Given the description of an element on the screen output the (x, y) to click on. 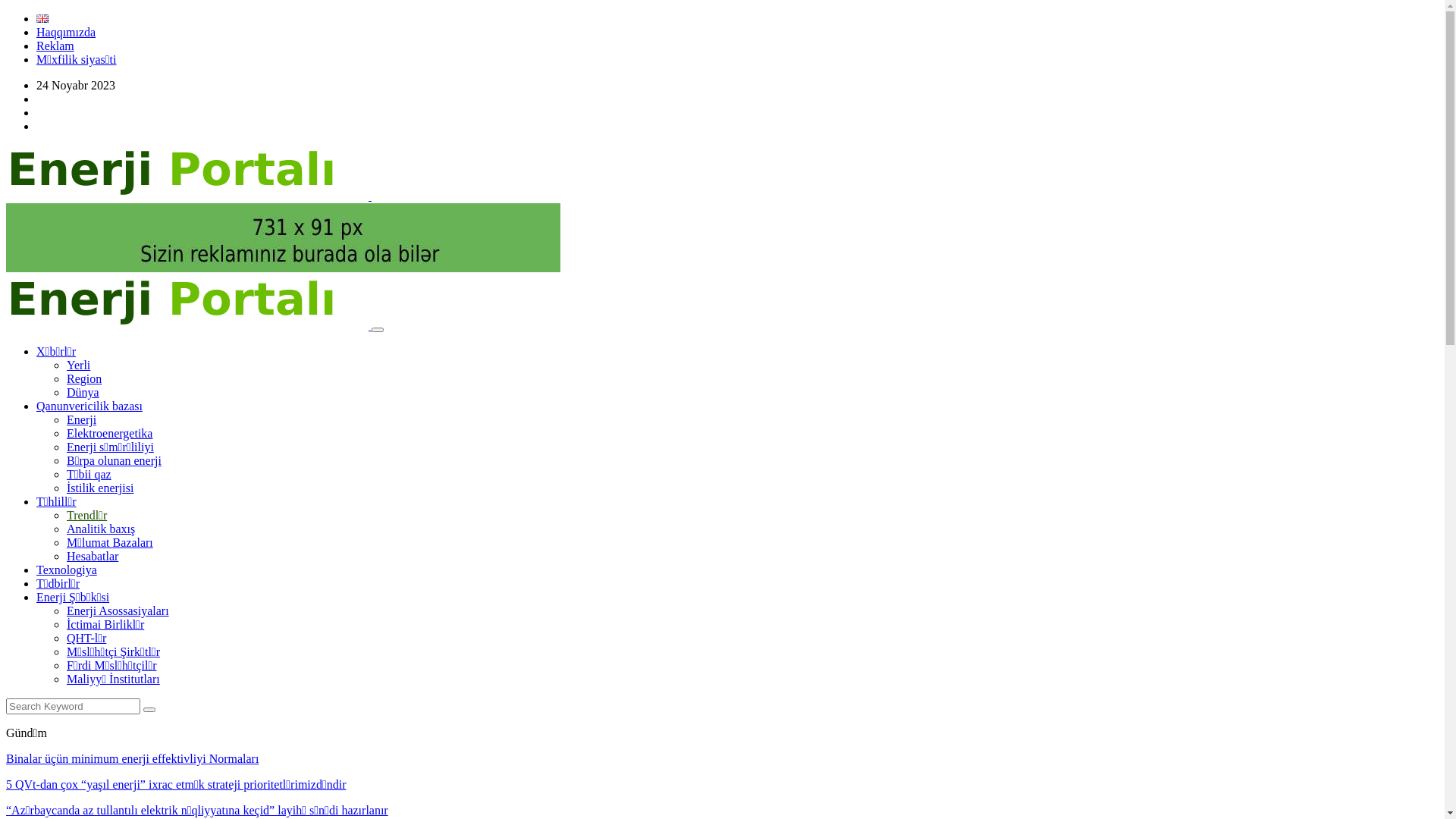
Texnologiya Element type: text (66, 569)
Enerji Element type: text (81, 419)
Yerli Element type: text (78, 364)
Elektroenergetika Element type: text (109, 432)
Region Element type: text (83, 378)
Hesabatlar Element type: text (92, 555)
Reklam Element type: text (55, 45)
